Given the description of an element on the screen output the (x, y) to click on. 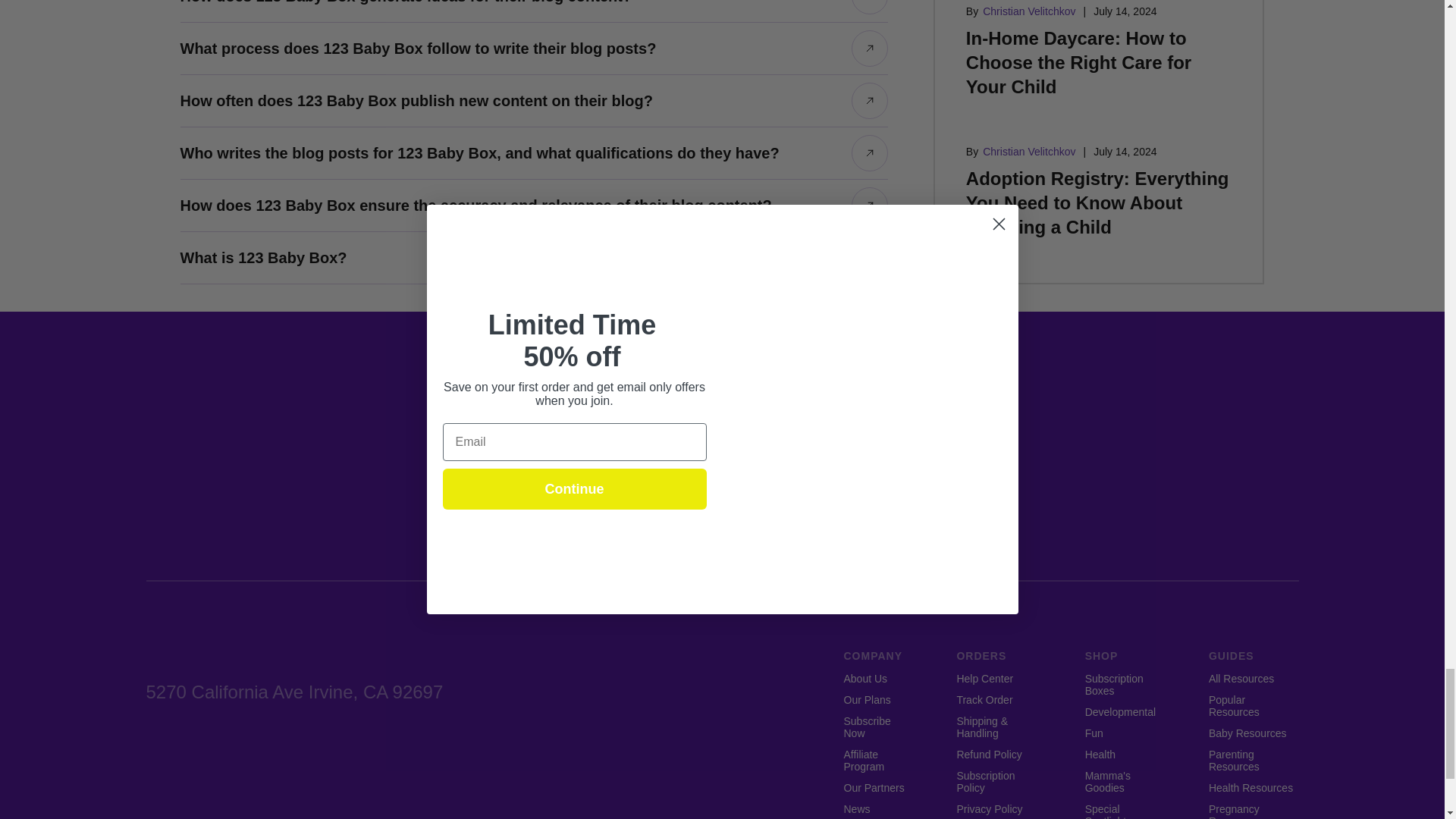
SUBSCRIBE (848, 489)
